Given the description of an element on the screen output the (x, y) to click on. 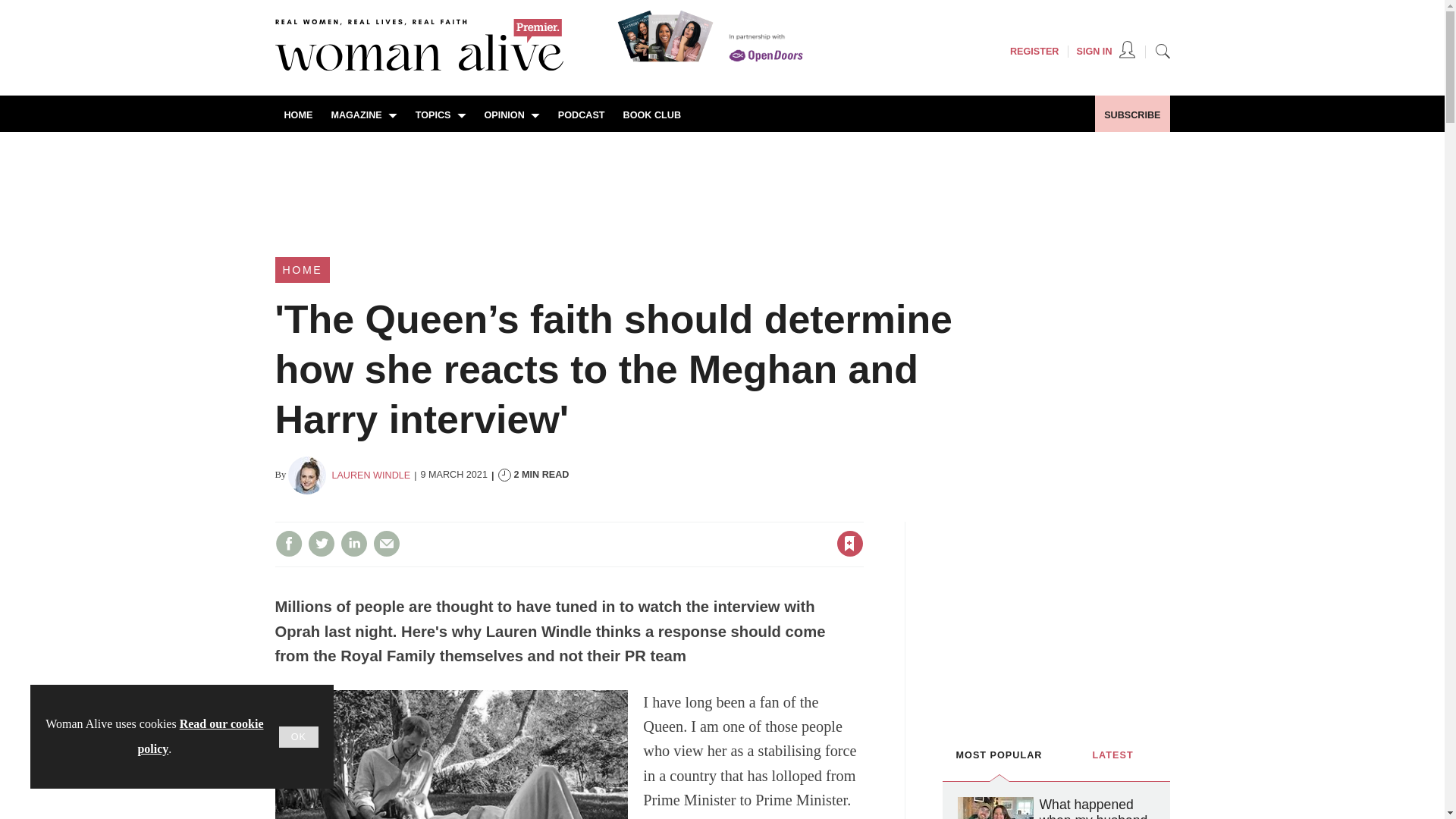
SEARCH (1161, 50)
SIGN IN (1106, 51)
OK (298, 736)
REGISTER (1034, 51)
3rd party ad content (721, 183)
Read our cookie policy (199, 735)
3rd party ad content (1055, 616)
Share this on Twitter (320, 543)
Share this on Facebook (288, 543)
Share this on Linked in (352, 543)
Email this article (386, 543)
Site name (418, 66)
